Given the description of an element on the screen output the (x, y) to click on. 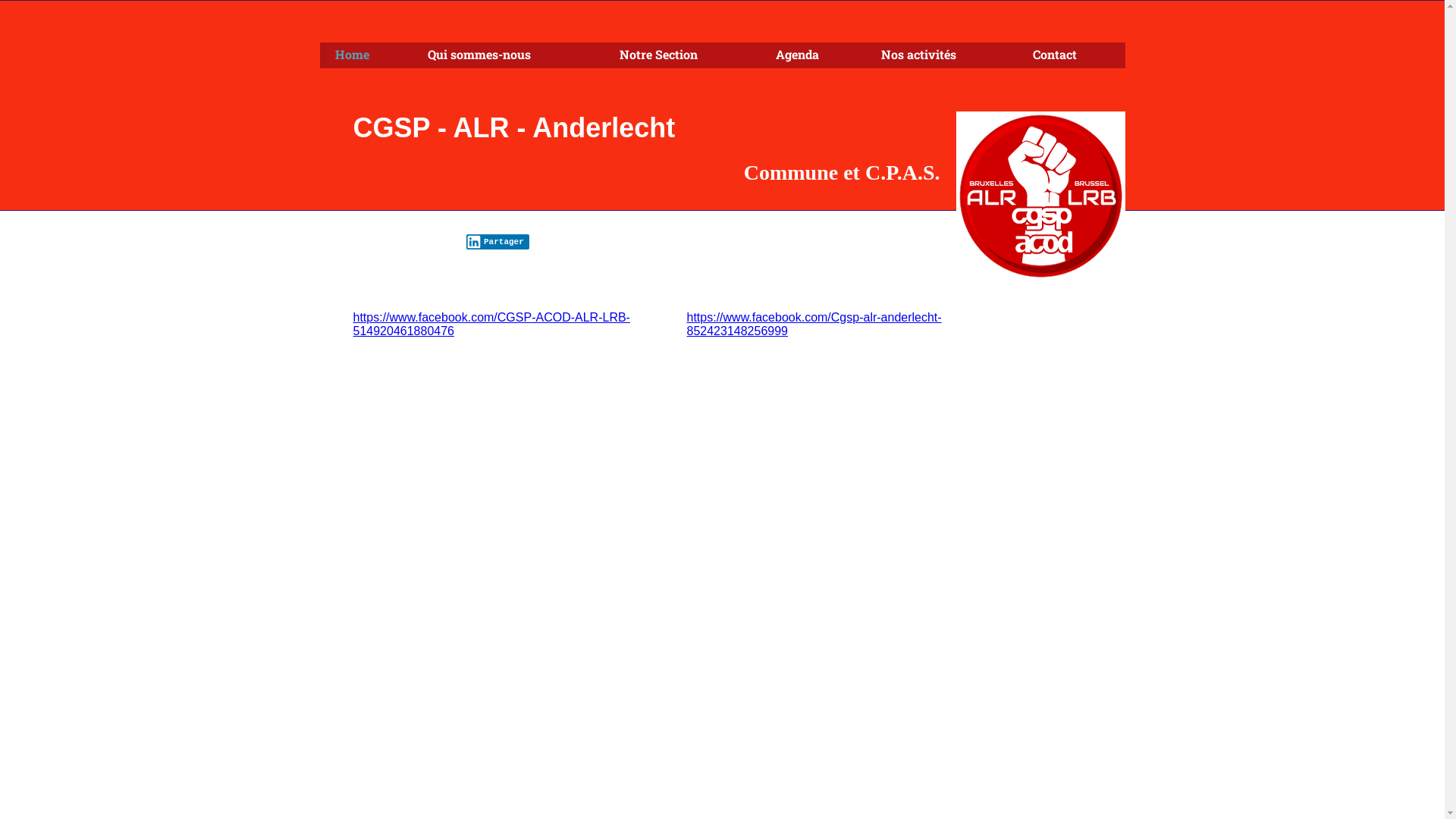
Contact Element type: text (1070, 55)
Qui sommes-nous Element type: text (508, 55)
Agenda Element type: text (813, 55)
Notre Section Element type: text (682, 55)
https://www.facebook.com/Cgsp-alr-anderlecht-852423148256999 Element type: text (814, 323)
https://www.facebook.com/CGSP-ACOD-ALR-LRB-514920461880476 Element type: text (491, 323)
Partager Element type: text (496, 241)
Home Element type: text (366, 55)
